Given the description of an element on the screen output the (x, y) to click on. 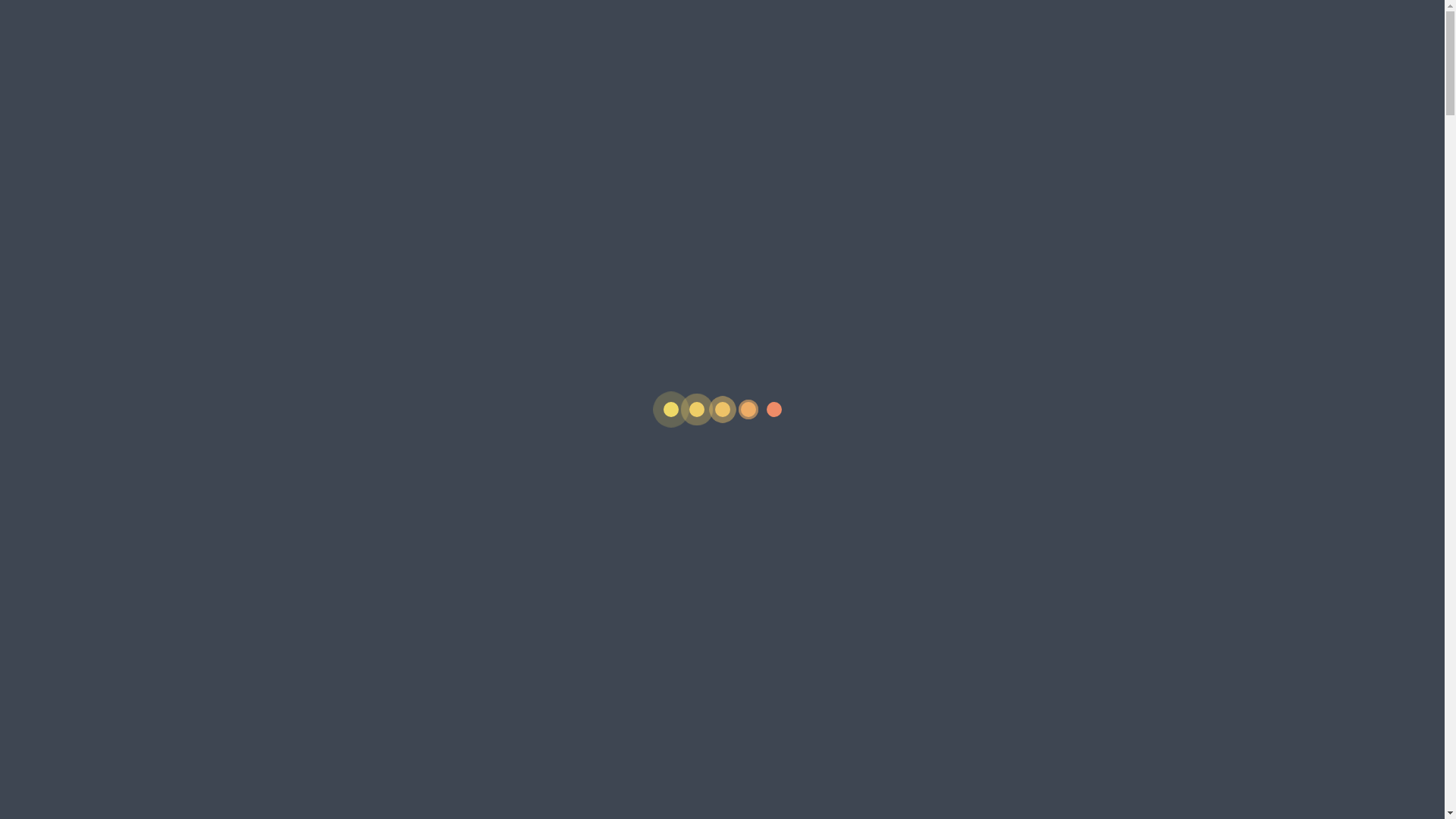
+375 17 395 35 35 Element type: text (918, 95)
